Given the description of an element on the screen output the (x, y) to click on. 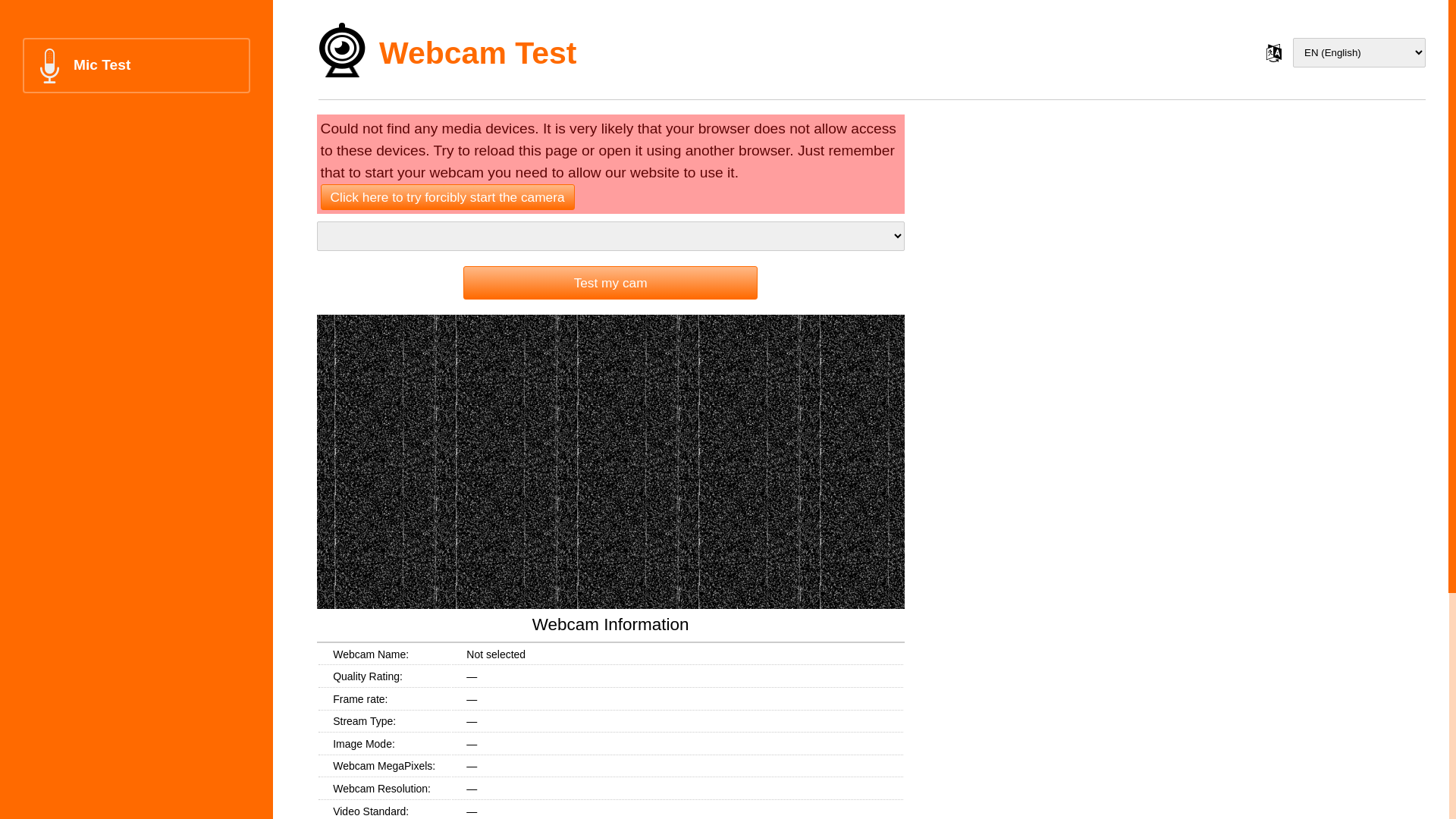
Test my cam Element type: text (610, 282)
Click here to try forcibly start the camera Element type: text (447, 197)
Mic Test Element type: text (136, 65)
